Given the description of an element on the screen output the (x, y) to click on. 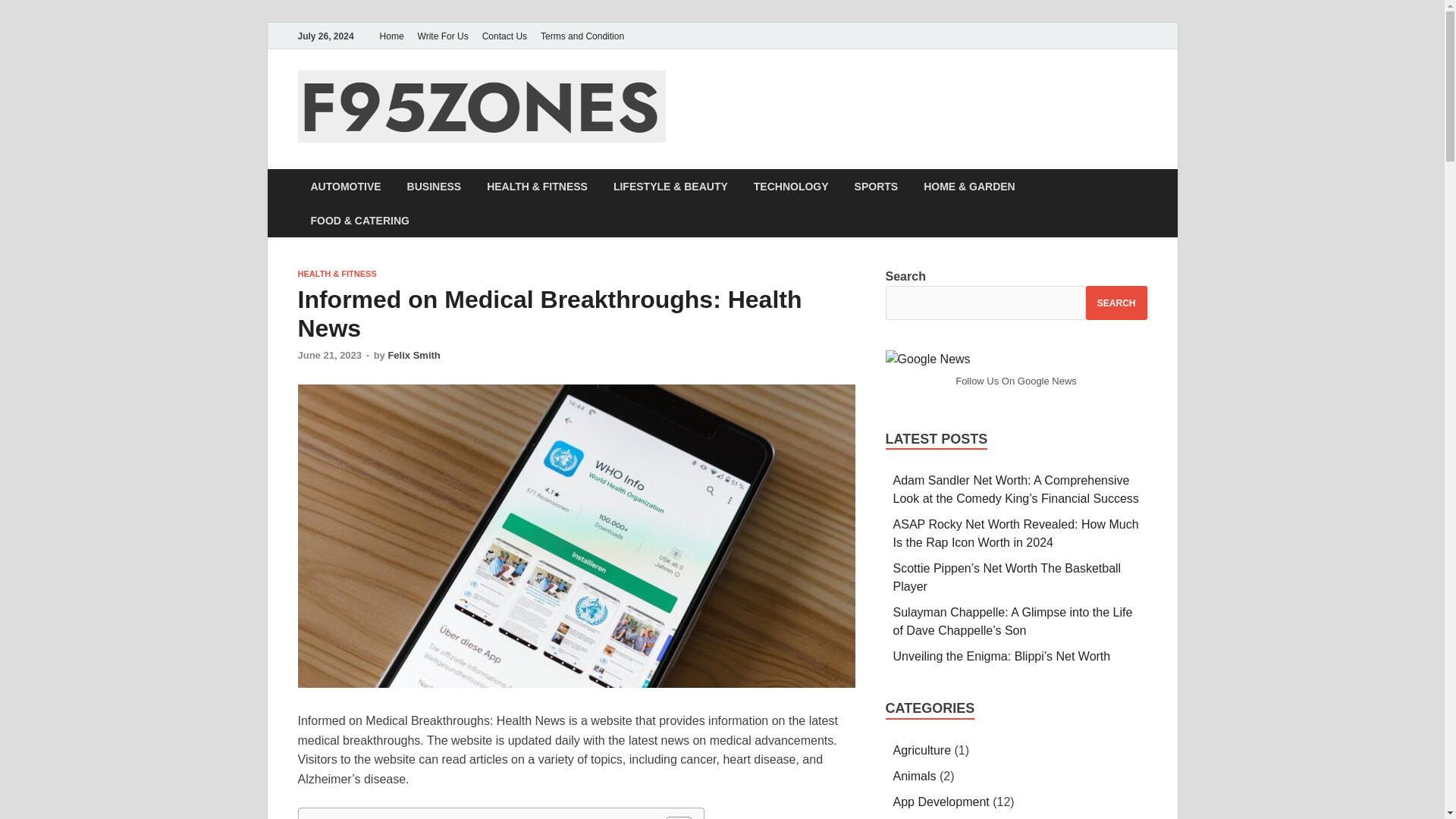
SPORTS (876, 185)
TECHNOLOGY (791, 185)
Write For Us (443, 35)
June 21, 2023 (329, 355)
Home (391, 35)
Contact Us (505, 35)
AUTOMOTIVE (345, 185)
BUSINESS (434, 185)
Felix Smith (413, 355)
Terms and Condition (582, 35)
